Given the description of an element on the screen output the (x, y) to click on. 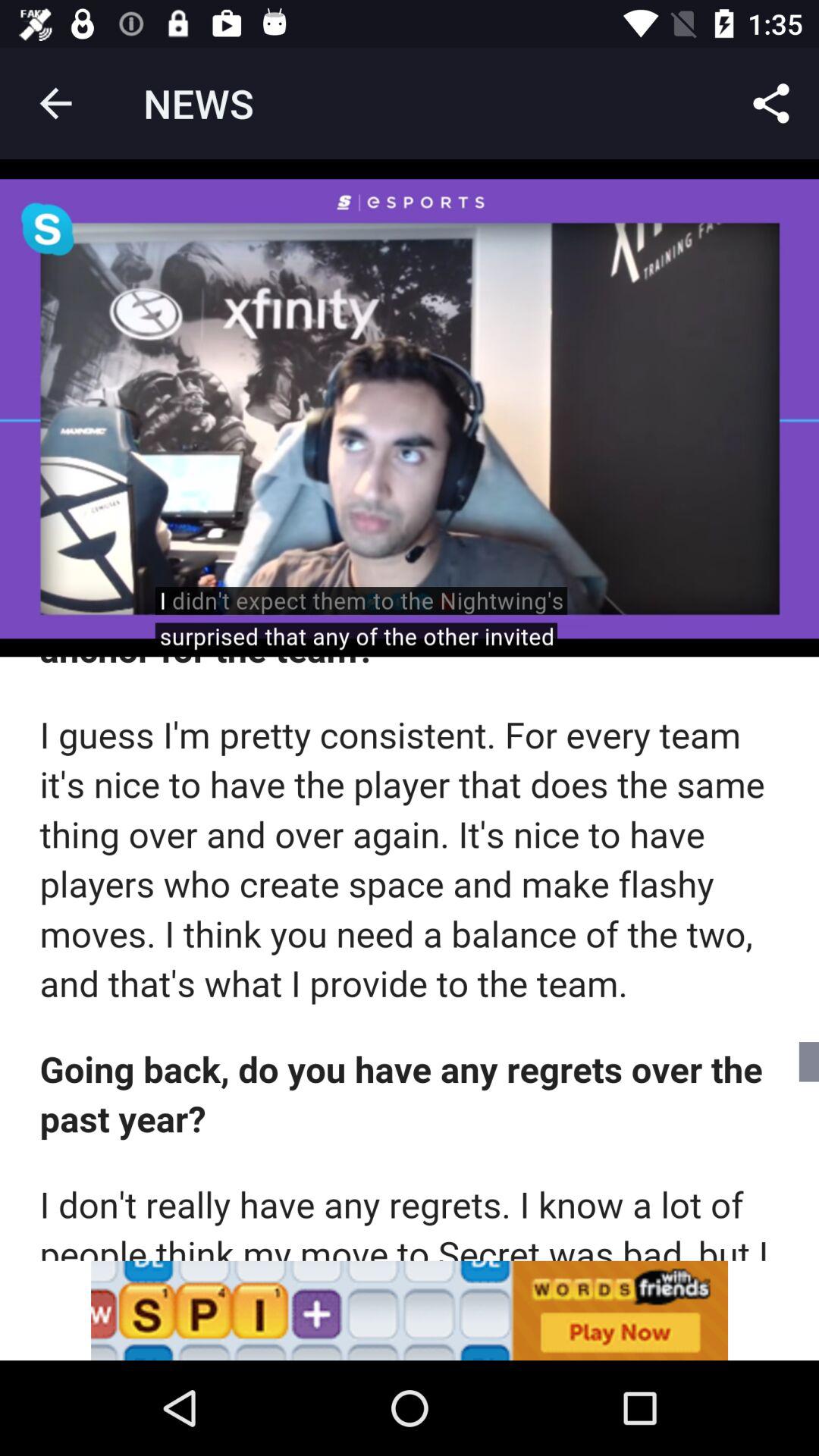
advertisement bar (409, 1310)
